Given the description of an element on the screen output the (x, y) to click on. 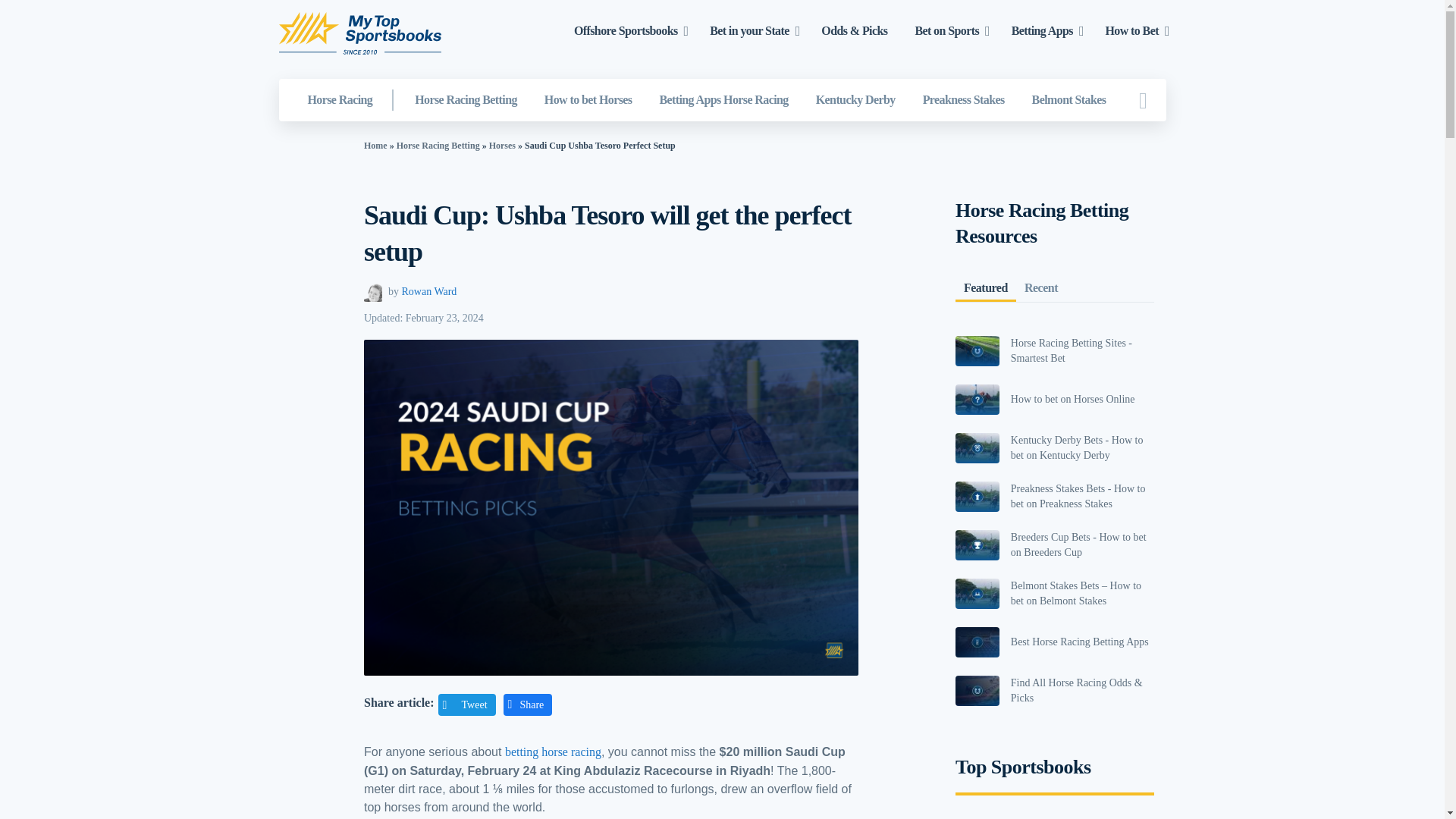
legal sports betting online (748, 30)
Betting Apps (1042, 30)
Bet on Sports (946, 30)
Bet in your State (748, 30)
Offshore Sportsbooks (625, 30)
Offshore Sportsbooks (625, 30)
